Given the description of an element on the screen output the (x, y) to click on. 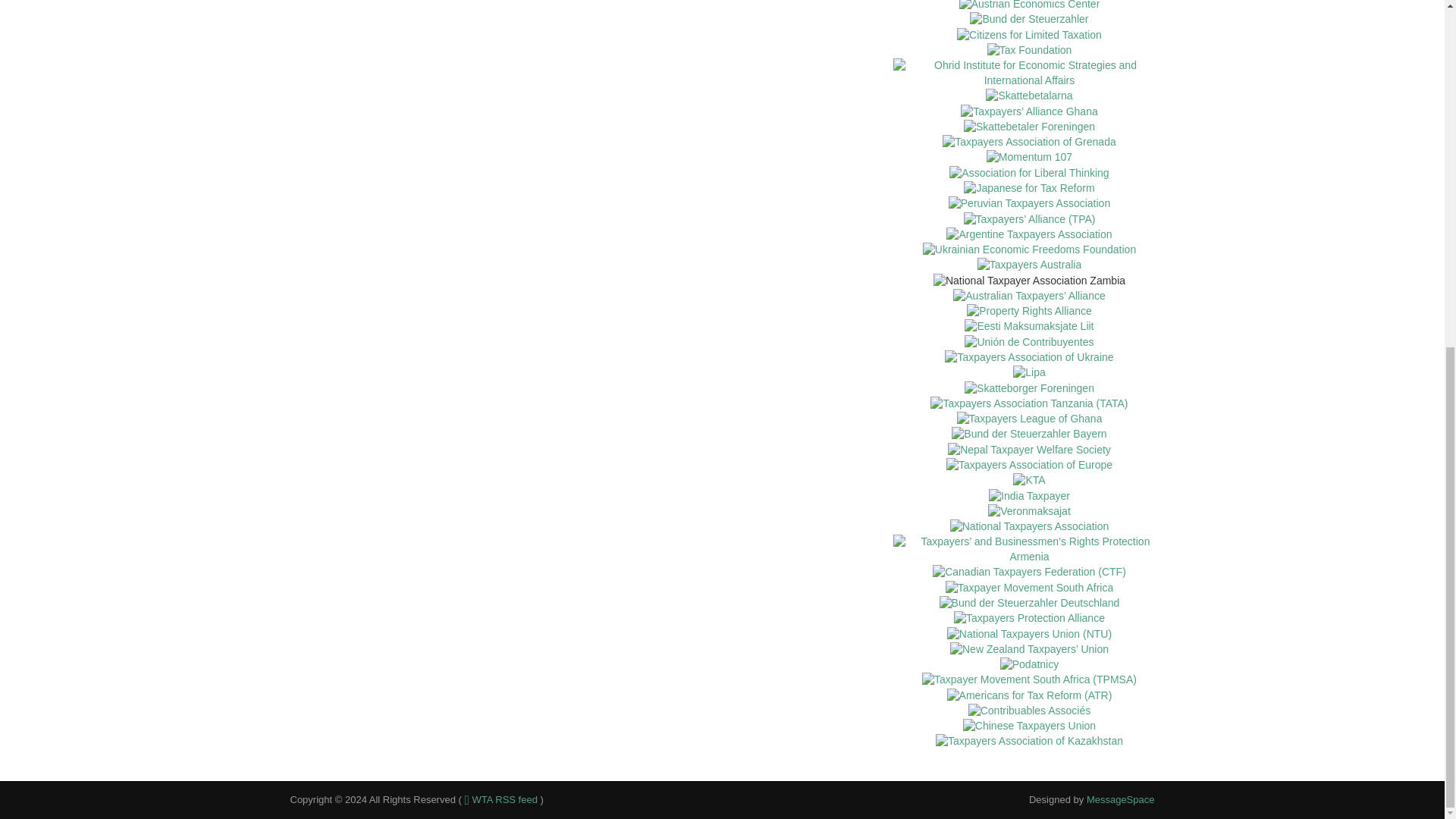
Austria (1028, 19)
Hong Kong (1029, 157)
Grenada (1028, 142)
United Kingdom (1029, 219)
United States (1029, 35)
Peru (1029, 203)
Macedonia (1029, 73)
United States (1029, 50)
Japan (1028, 188)
Turkey (1028, 173)
Argentina (1029, 234)
Norway (1028, 127)
Austria (1029, 6)
Sweden (1028, 96)
Ghana (1028, 111)
